Given the description of an element on the screen output the (x, y) to click on. 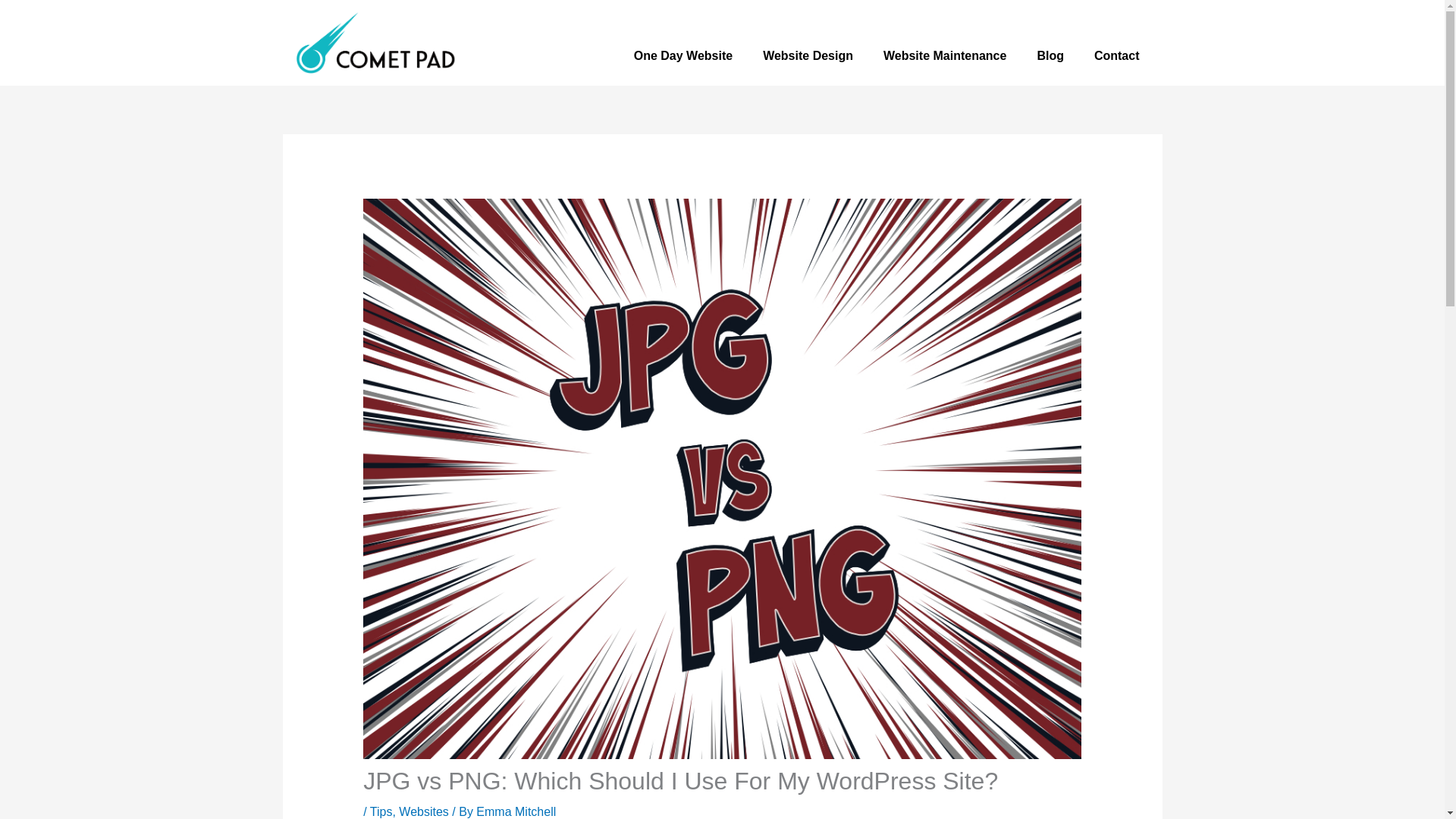
Blog (1050, 55)
Tips (381, 811)
Websites (423, 811)
One Day Website (683, 55)
Website Maintenance (944, 55)
View all posts by Emma Mitchell (516, 811)
Emma Mitchell (516, 811)
Contact (1116, 55)
Website Design (807, 55)
